Given the description of an element on the screen output the (x, y) to click on. 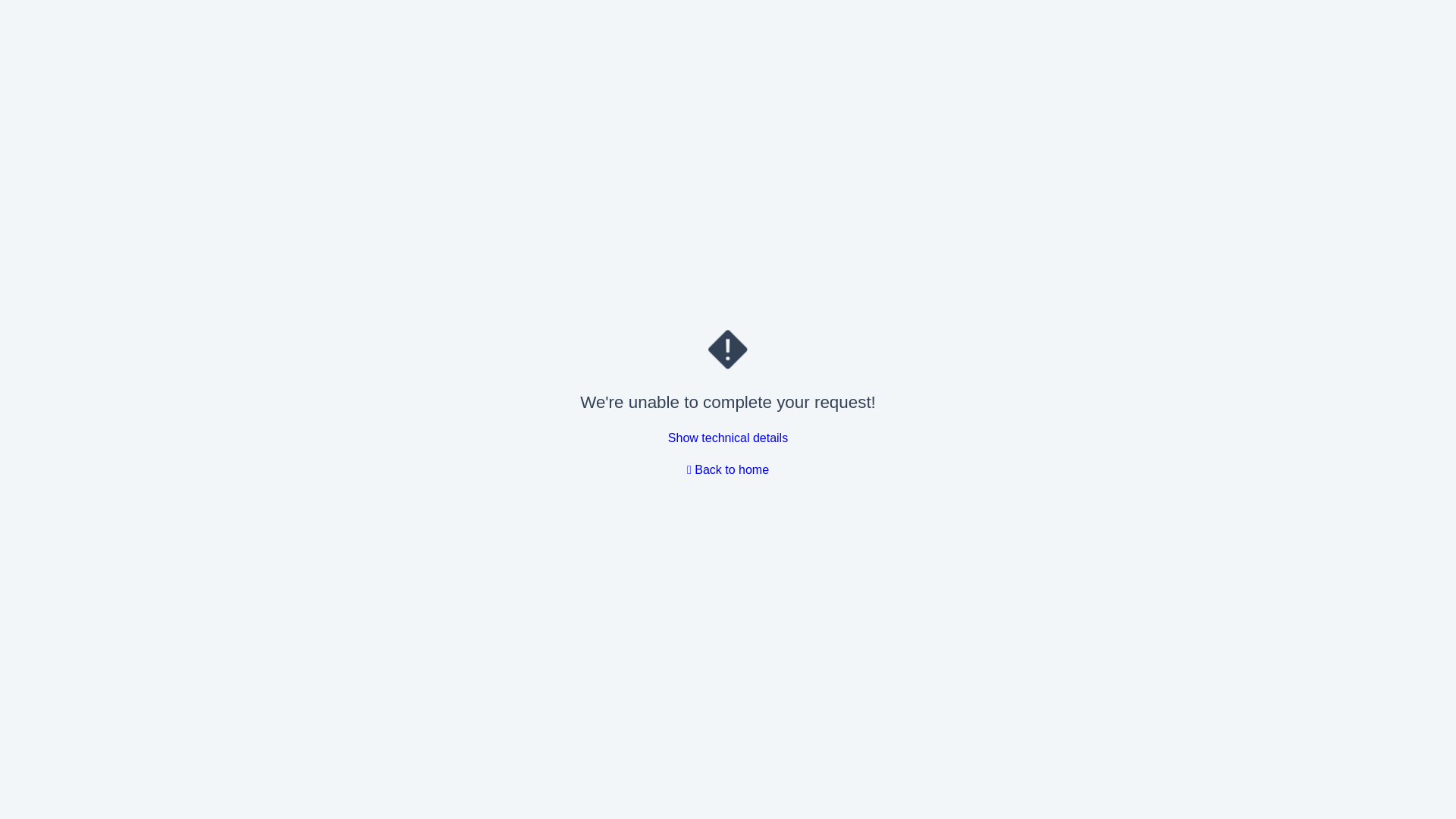
Show technical details Element type: text (727, 438)
